Given the description of an element on the screen output the (x, y) to click on. 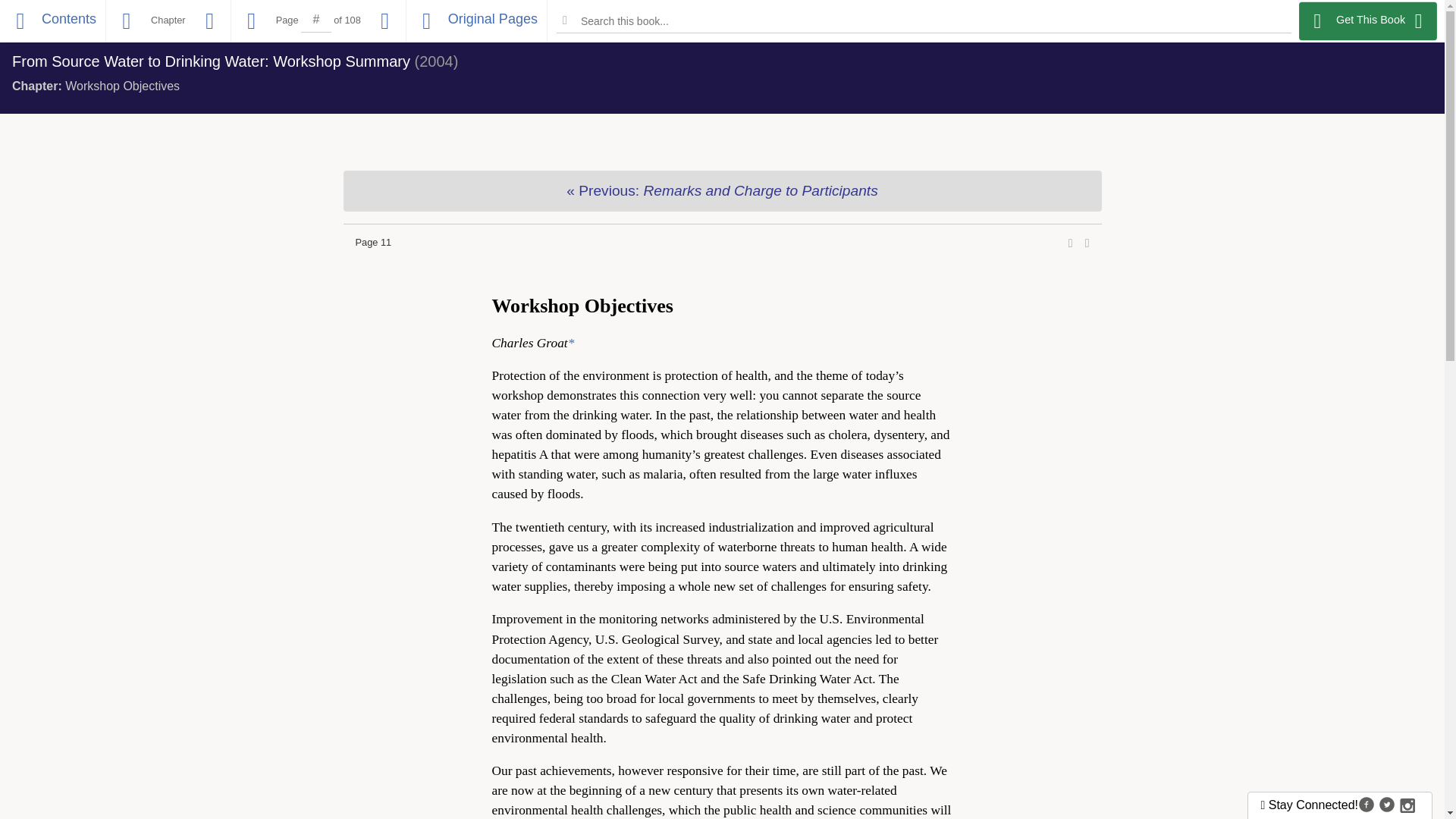
Cart (1377, 22)
From Source Water to Drinking Water: Workshop Summary (210, 61)
Login (1272, 22)
Next Chapter (209, 21)
Next Page (385, 21)
Previous Page (251, 21)
Previous Chapter (126, 21)
Previous Chapter (721, 190)
Help (1418, 22)
Register (1326, 22)
